Given the description of an element on the screen output the (x, y) to click on. 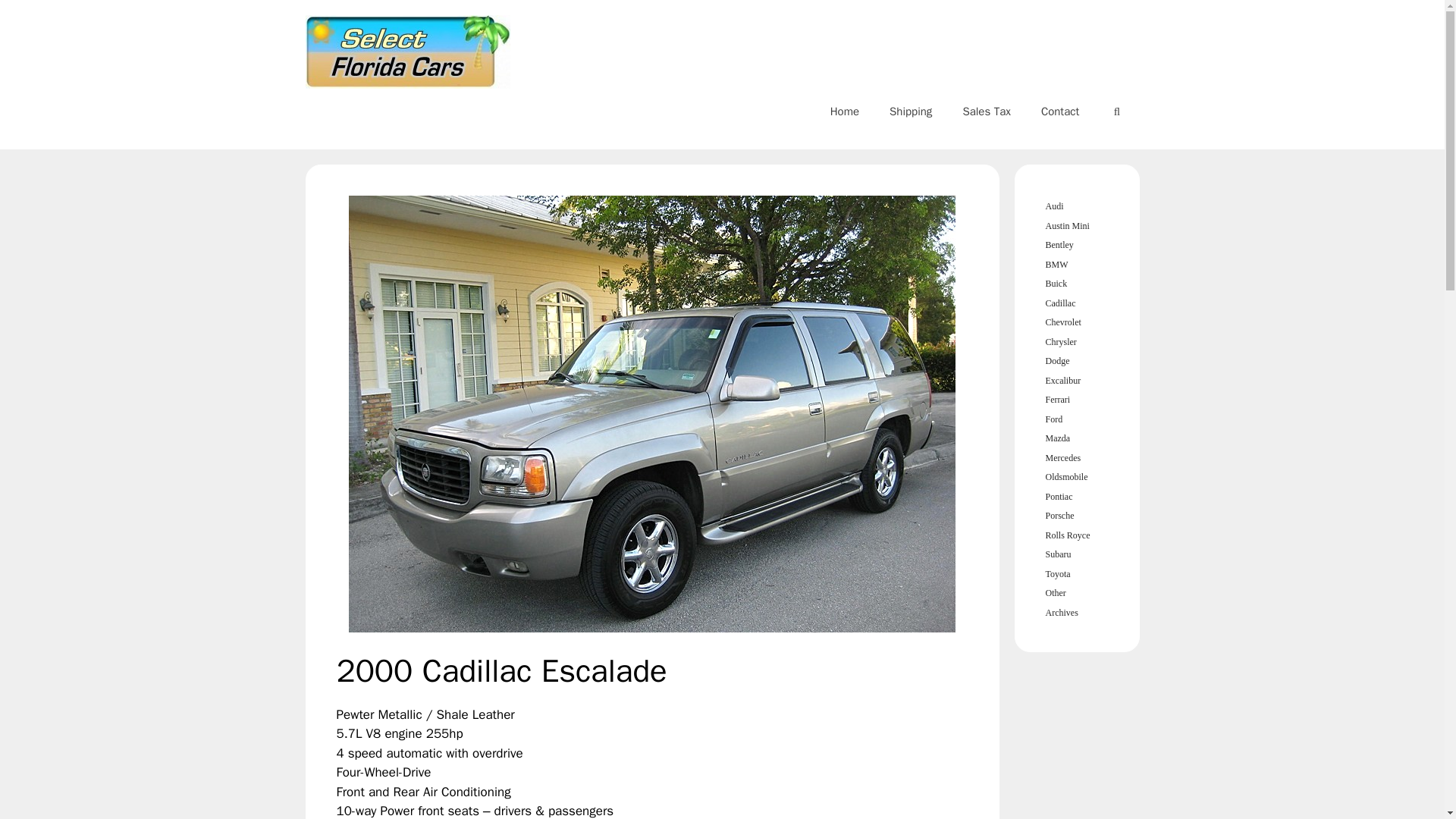
Home (845, 111)
Contact (1060, 111)
Shipping (911, 111)
Sales Tax (986, 111)
